Given the description of an element on the screen output the (x, y) to click on. 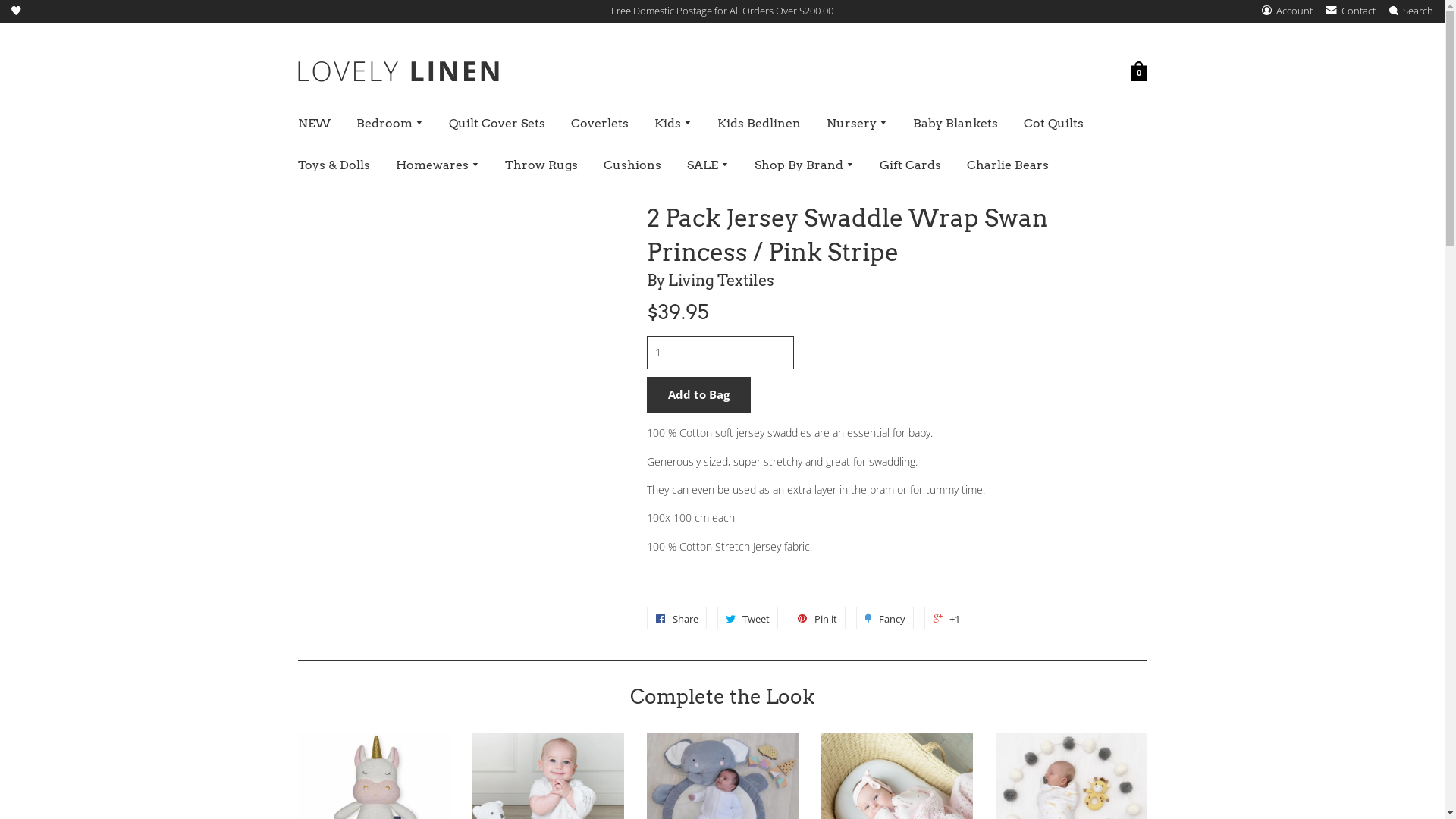
Share Element type: text (676, 617)
NEW Element type: text (314, 123)
Lovely Linen Element type: text (397, 73)
Coverlets Element type: text (599, 123)
Subscribe Element type: text (728, 466)
Toys & Dolls Element type: text (333, 165)
Fancy Element type: text (884, 617)
Kids Bedlinen Element type: text (758, 123)
SALE Element type: text (706, 165)
Cot Quilts Element type: text (1052, 123)
Bag
Bag
0 Element type: text (1137, 73)
Shop By Brand Element type: text (804, 165)
Throw Rugs Element type: text (540, 165)
Account Account Element type: text (1287, 10)
Contact Contact Element type: text (1351, 10)
Homewares Element type: text (436, 165)
Quilt Cover Sets Element type: text (495, 123)
Bedroom Element type: text (388, 123)
By Living Textiles Element type: text (896, 280)
Tweet Element type: text (747, 617)
Kids Element type: text (672, 123)
Nursery Element type: text (855, 123)
Charlie Bears Element type: text (1007, 165)
Add to Bag Element type: text (697, 394)
Gift Cards Element type: text (909, 165)
Search Search Element type: text (1411, 10)
+1 Element type: text (945, 617)
Baby Blankets Element type: text (954, 123)
Cushions Element type: text (631, 165)
Pin it Element type: text (816, 617)
